Given the description of an element on the screen output the (x, y) to click on. 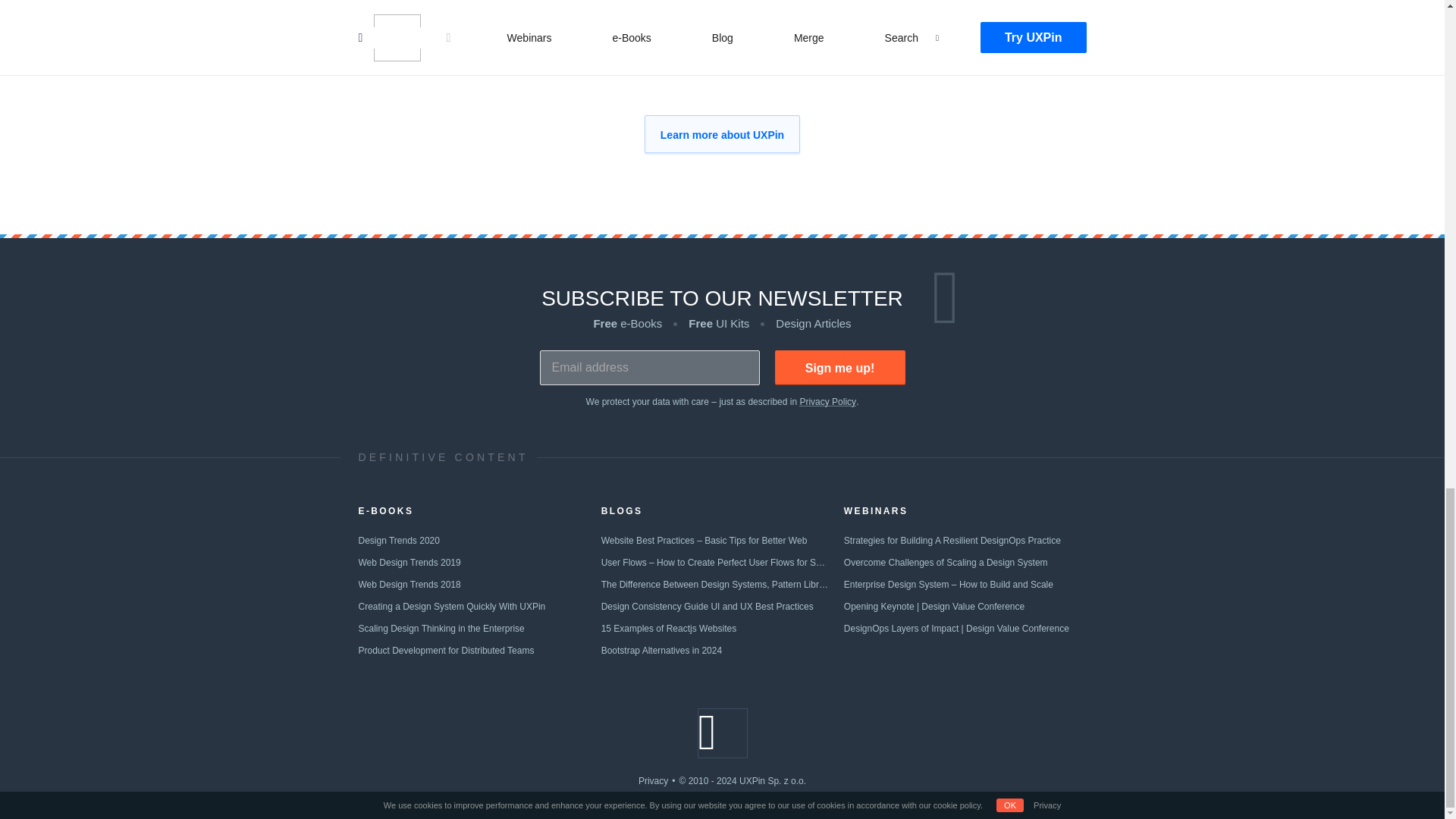
Overcome Challenges of Scaling a Design System (946, 562)
Design Trends 2020 (398, 540)
Design Consistency Guide UI and UX Best Practices (707, 606)
Creating a Design System Quickly With UXPin (451, 606)
Bootstrap Alternatives in 2024 (661, 650)
Scaling Design Thinking in the Enterprise (441, 628)
Go to UXPin.com (722, 733)
Privacy Policy (827, 401)
Sign me up! (839, 367)
Learn more about UXPin (722, 134)
